Given the description of an element on the screen output the (x, y) to click on. 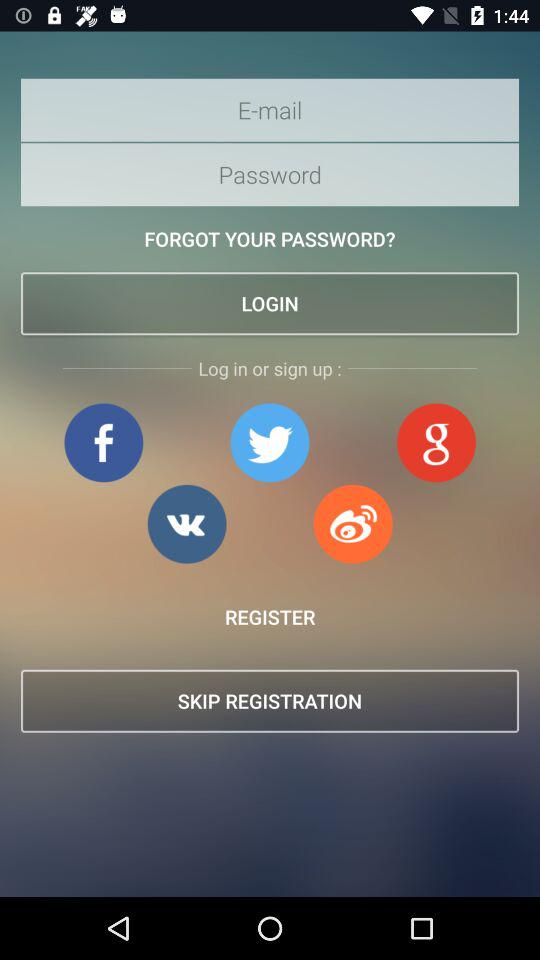
login using twitter (269, 442)
